Given the description of an element on the screen output the (x, y) to click on. 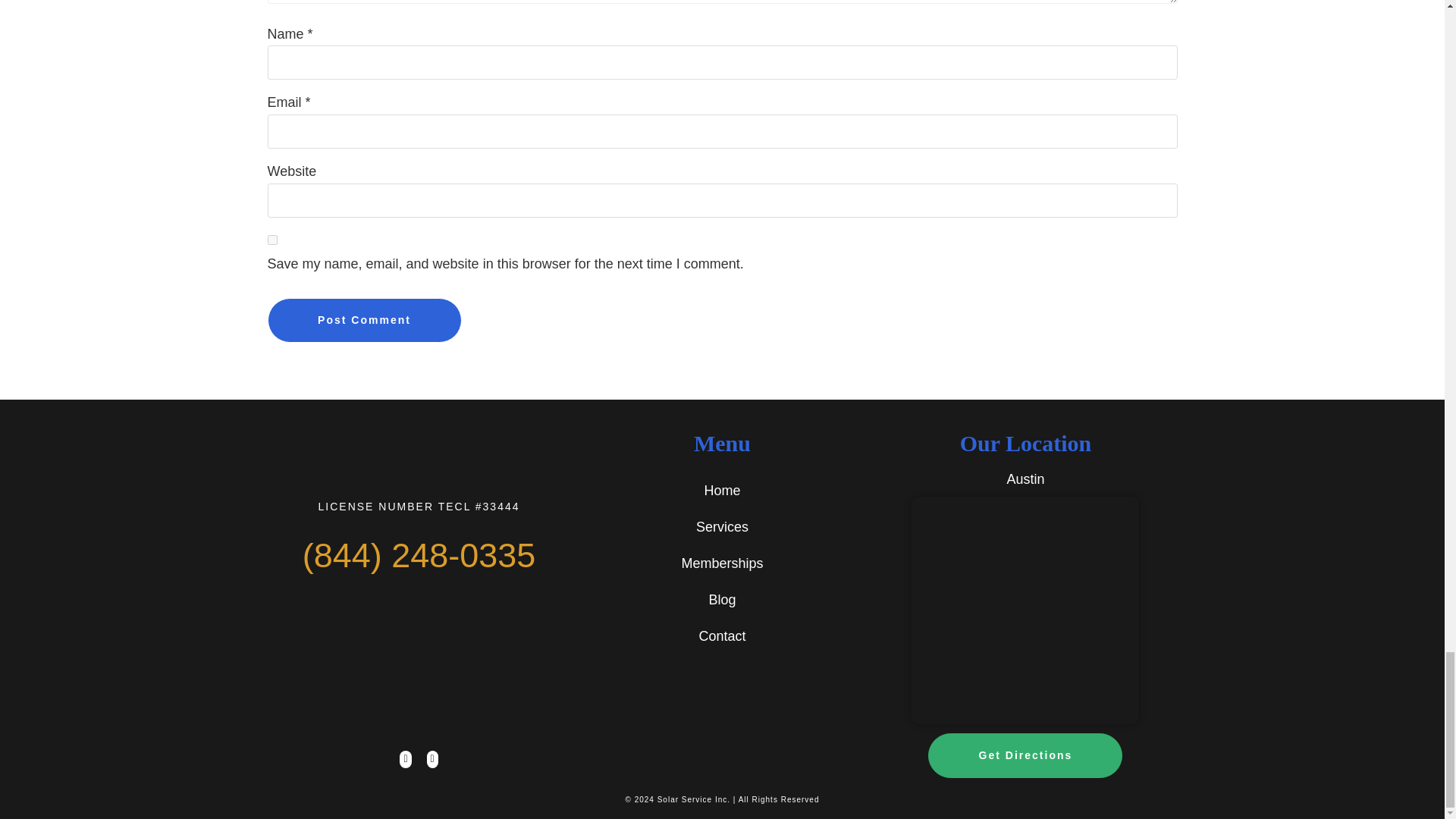
Contact (721, 635)
Get Directions (1025, 755)
yes (271, 239)
Home (721, 490)
Solar Service on Facebook (404, 758)
Solar Service Inc. (694, 799)
Solar Service on Instagram (432, 758)
Memberships (721, 563)
Post Comment (363, 320)
Services (721, 526)
Austin (1025, 479)
Post Comment (363, 320)
Call Solar Service (418, 555)
Blog (721, 599)
